Given the description of an element on the screen output the (x, y) to click on. 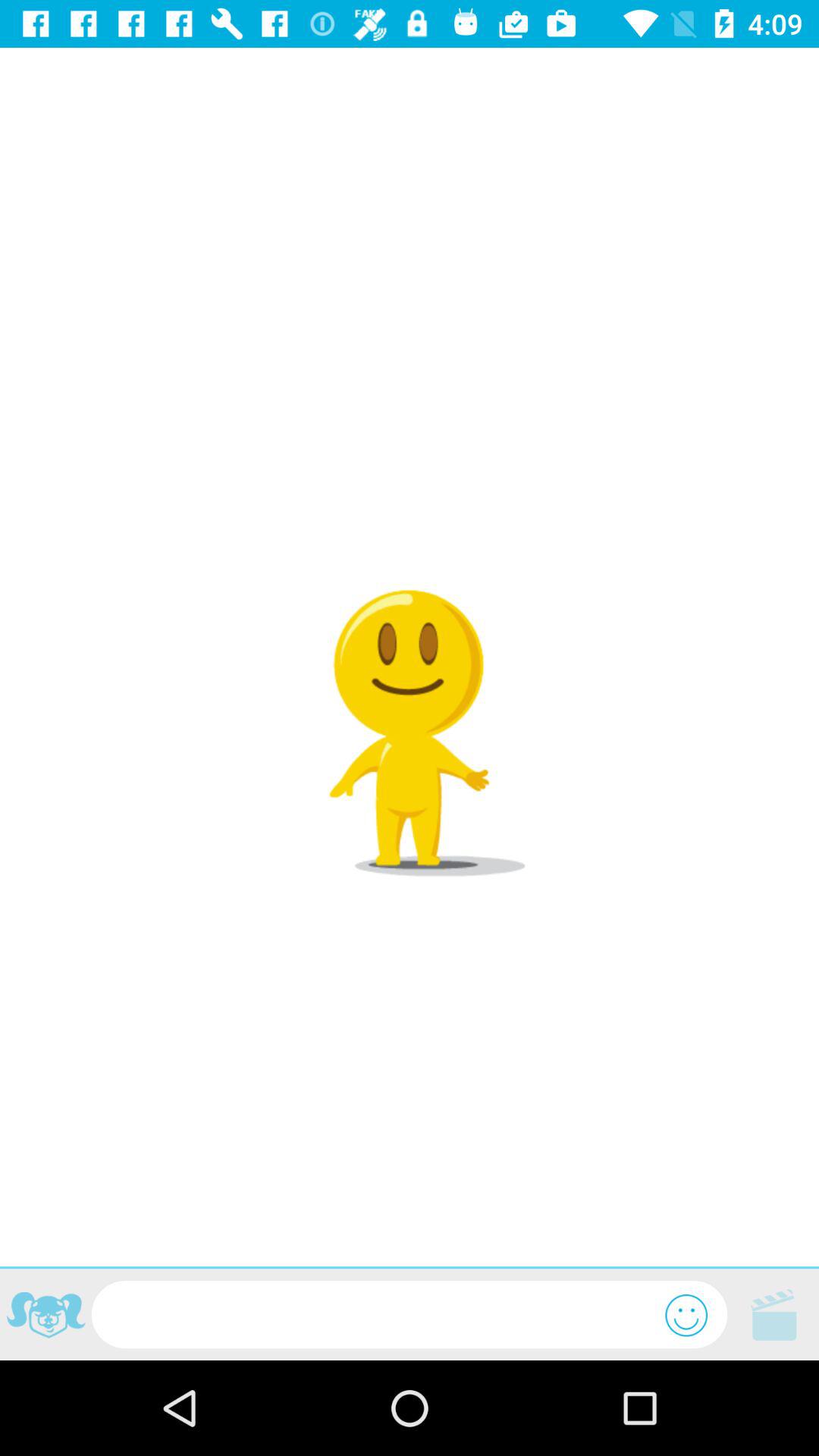
toggle emote list (686, 1315)
